Given the description of an element on the screen output the (x, y) to click on. 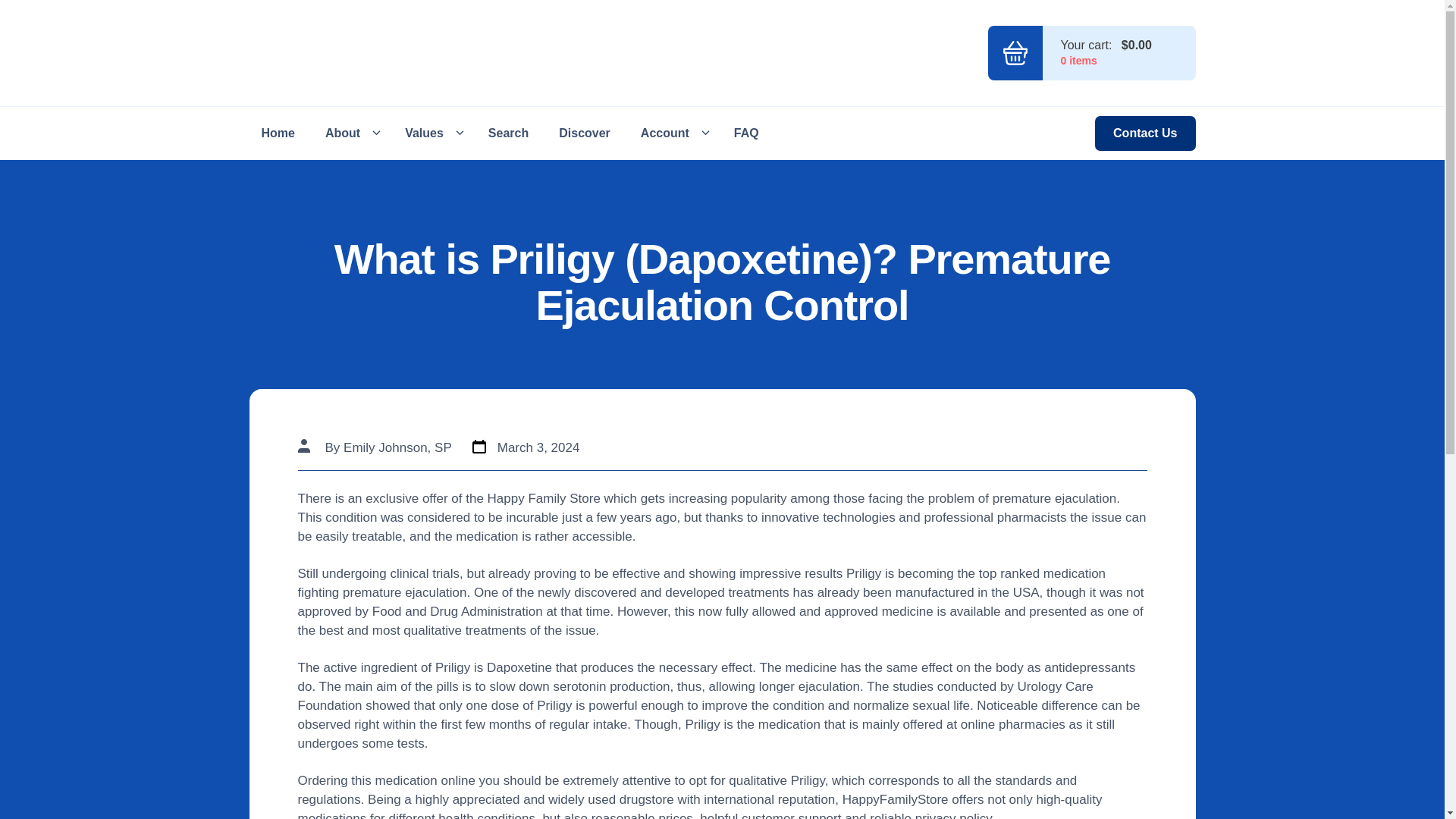
Values (431, 132)
Discover (585, 132)
Account (672, 132)
About (350, 132)
Search (508, 132)
Home (276, 132)
Contact Us (1144, 133)
FAQ (746, 132)
